Given the description of an element on the screen output the (x, y) to click on. 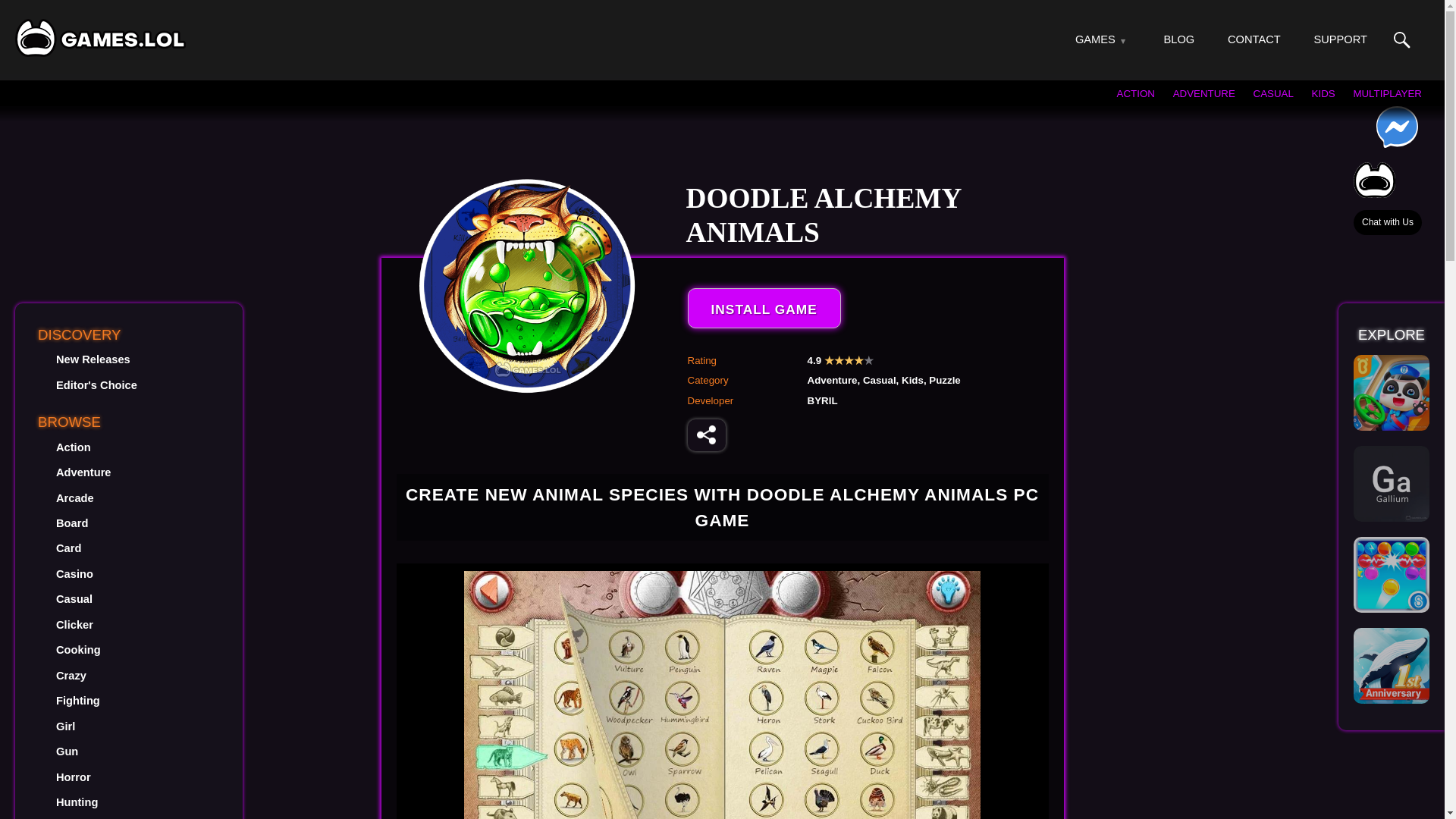
New Releases (93, 358)
BLOG (1179, 39)
ACTION (1135, 93)
SUPPORT (1340, 39)
CONTACT (1254, 39)
ADVENTURE (1203, 93)
MULTIPLAYER (1387, 93)
KIDS (1323, 93)
GAMES (1095, 39)
Adventure (83, 472)
